Given the description of an element on the screen output the (x, y) to click on. 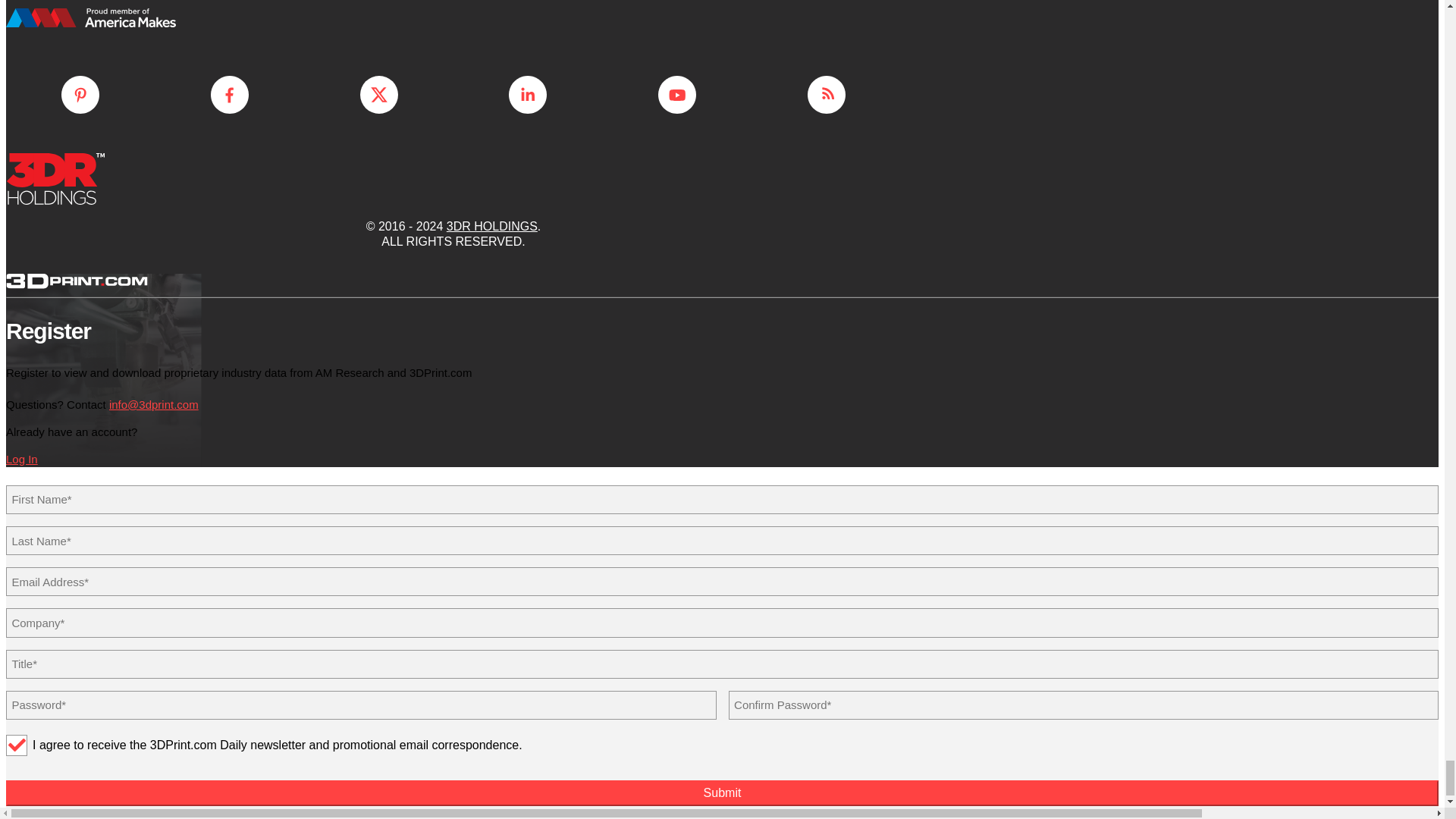
Submit (721, 792)
